Given the description of an element on the screen output the (x, y) to click on. 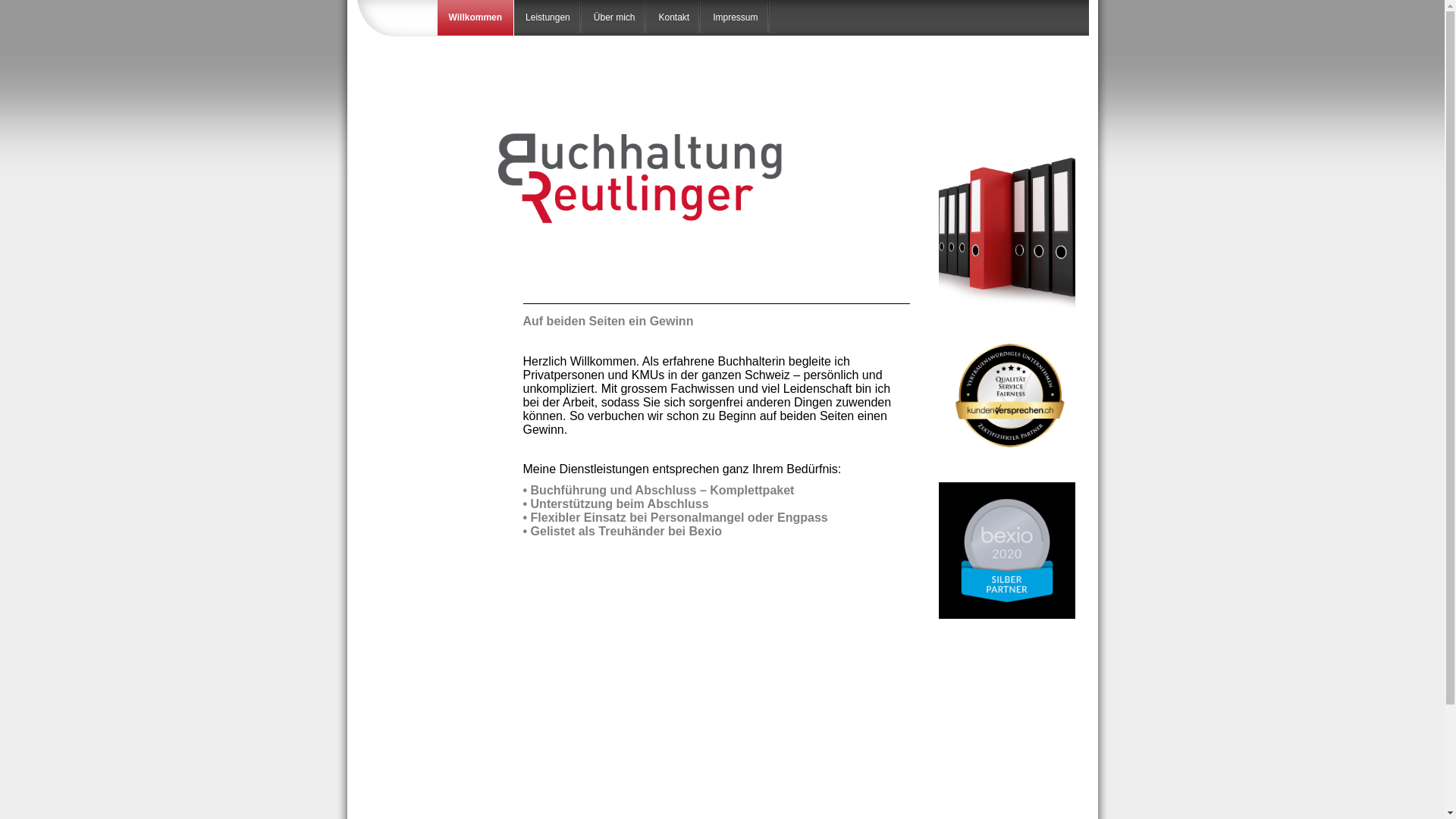
Kontakt Element type: text (673, 17)
Impressum Element type: text (735, 17)
Leistungen Element type: text (548, 17)
Willkommen Element type: text (475, 17)
